Given the description of an element on the screen output the (x, y) to click on. 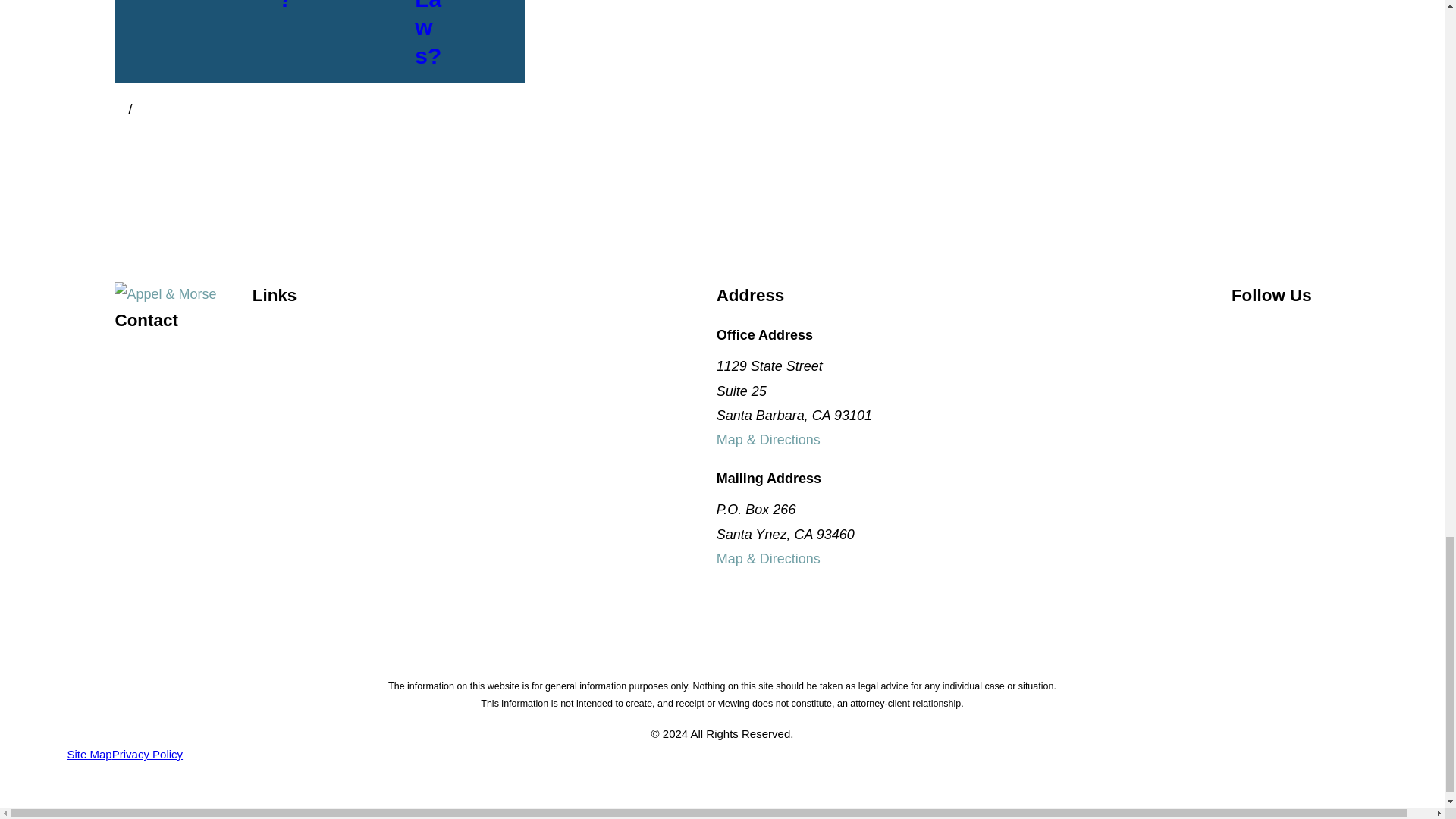
Home (183, 293)
View previous item (121, 110)
Twitter (1319, 332)
Google Business Profile (1280, 332)
View next item (138, 110)
Facebook (1240, 332)
